Given the description of an element on the screen output the (x, y) to click on. 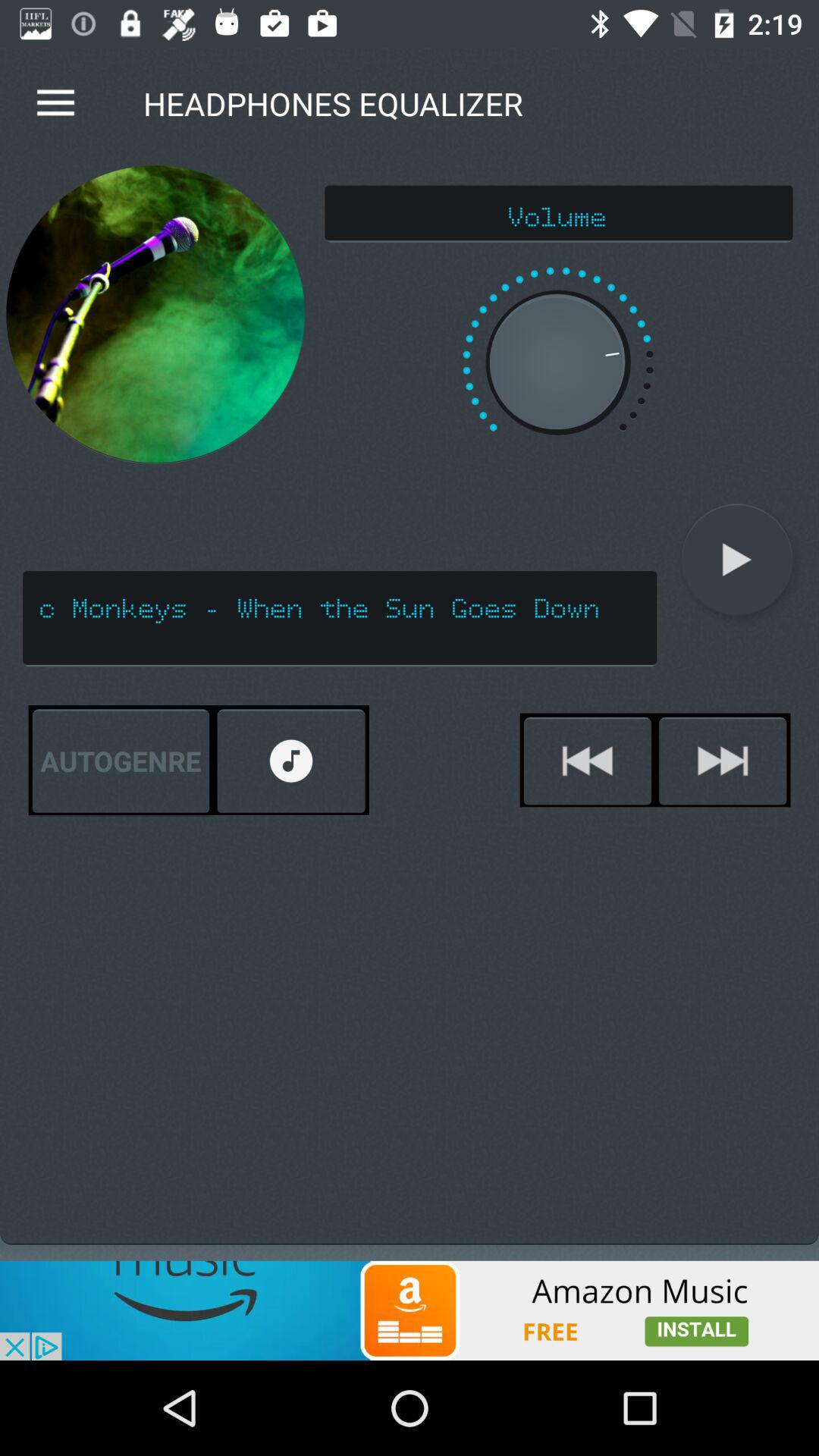
select item to the right of the arctic monkeys when icon (736, 559)
